Given the description of an element on the screen output the (x, y) to click on. 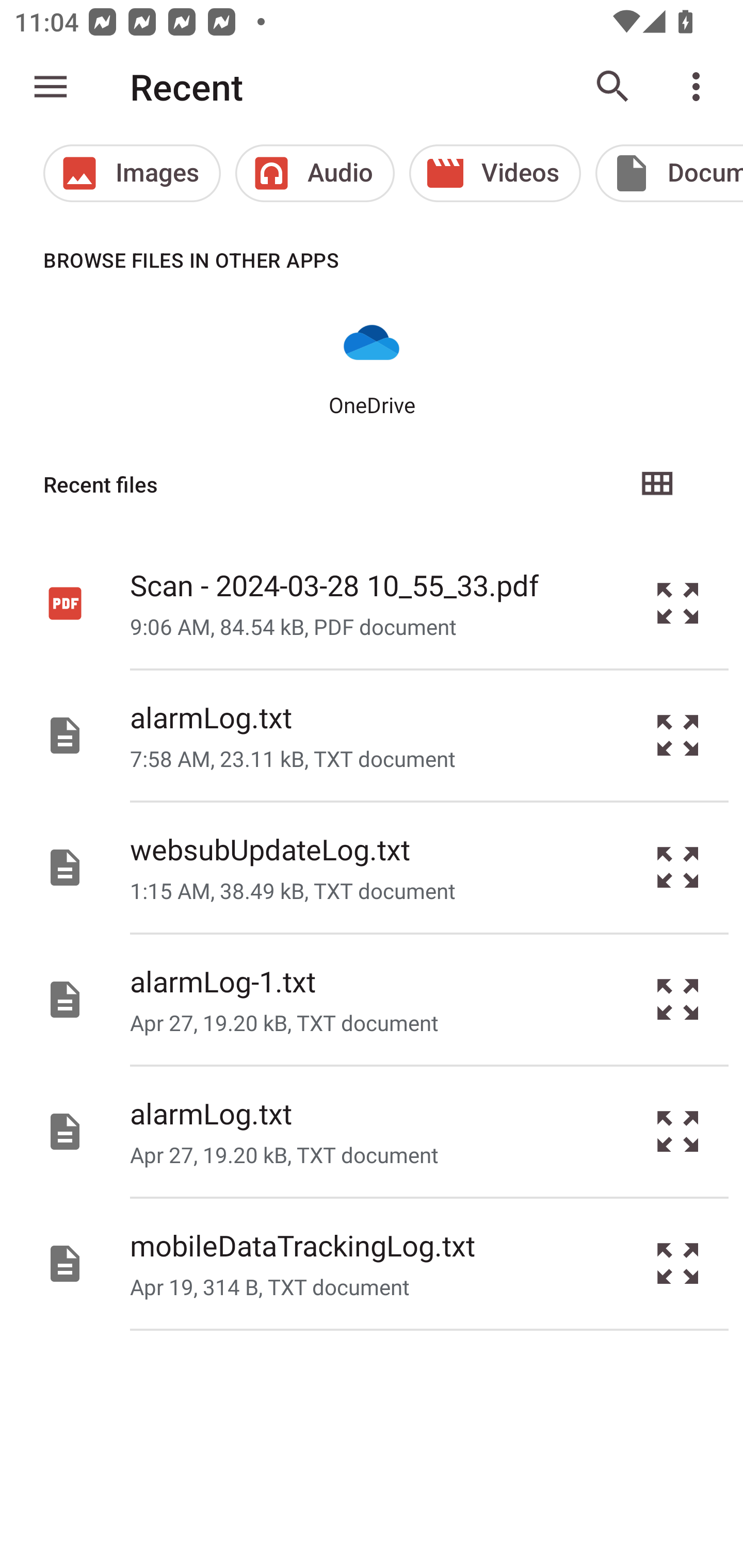
Show roots (50, 86)
Search (612, 86)
More options (699, 86)
Images (131, 173)
Audio (314, 173)
Videos (495, 173)
Documents (669, 173)
OneDrive (371, 365)
Grid view (655, 484)
Preview the file Scan - 2024-03-28 10_55_33.pdf (677, 602)
Preview the file alarmLog.txt (677, 736)
Preview the file websubUpdateLog.txt (677, 867)
Preview the file alarmLog-1.txt (677, 999)
Preview the file alarmLog.txt (677, 1131)
Preview the file mobileDataTrackingLog.txt (677, 1262)
